Given the description of an element on the screen output the (x, y) to click on. 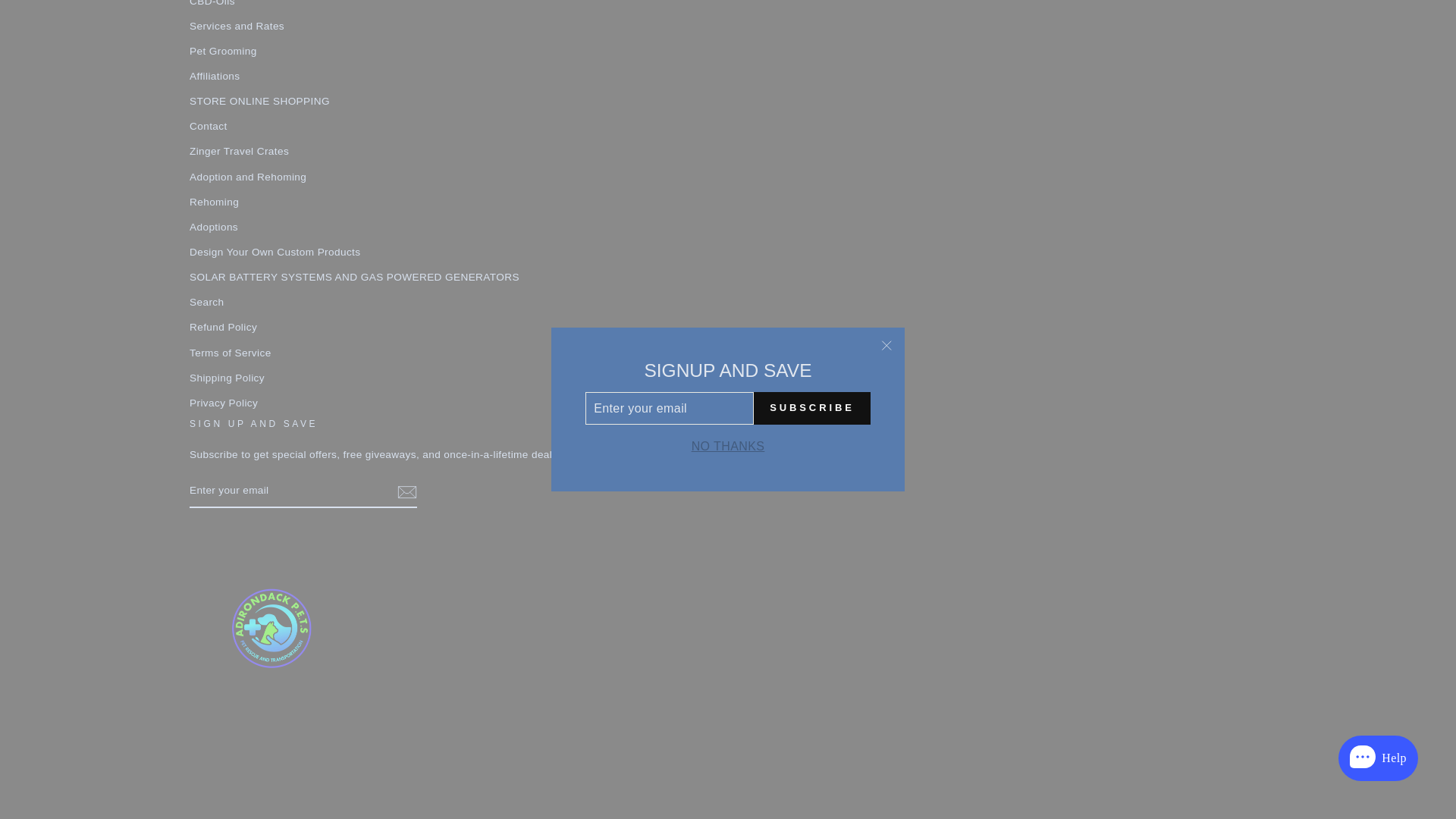
Venmo (868, 726)
Diners Club (587, 726)
Mastercard (747, 726)
Shop Pay (827, 726)
Discover (627, 726)
Visa (908, 726)
Google Pay (708, 726)
American Express (547, 726)
PayPal (788, 726)
Meta Pay (667, 726)
